Given the description of an element on the screen output the (x, y) to click on. 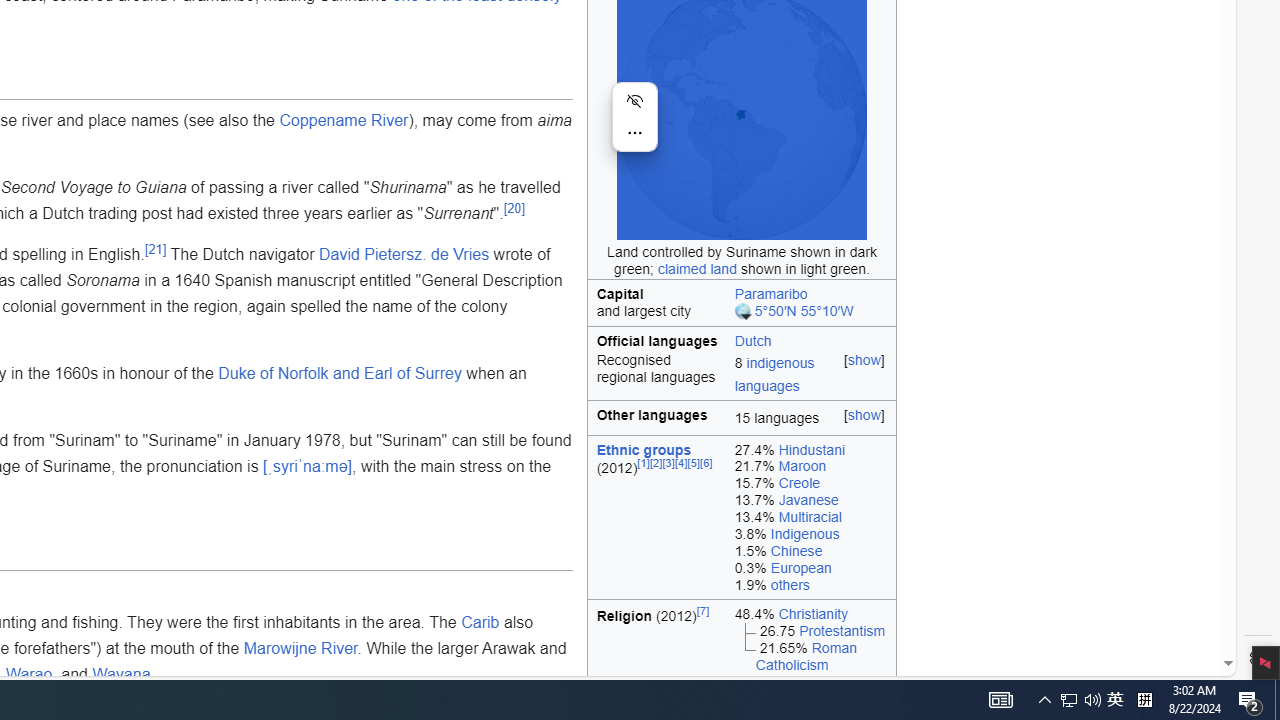
Coppename River (344, 119)
[21] (154, 249)
27.4% Hindustani (810, 449)
Class: mergedrow (742, 376)
[3] (667, 463)
indigenous languages (774, 373)
0.3% European (810, 567)
[6] (706, 463)
Paramaribo (770, 293)
Dutch (752, 340)
1.9% others (810, 585)
